Given the description of an element on the screen output the (x, y) to click on. 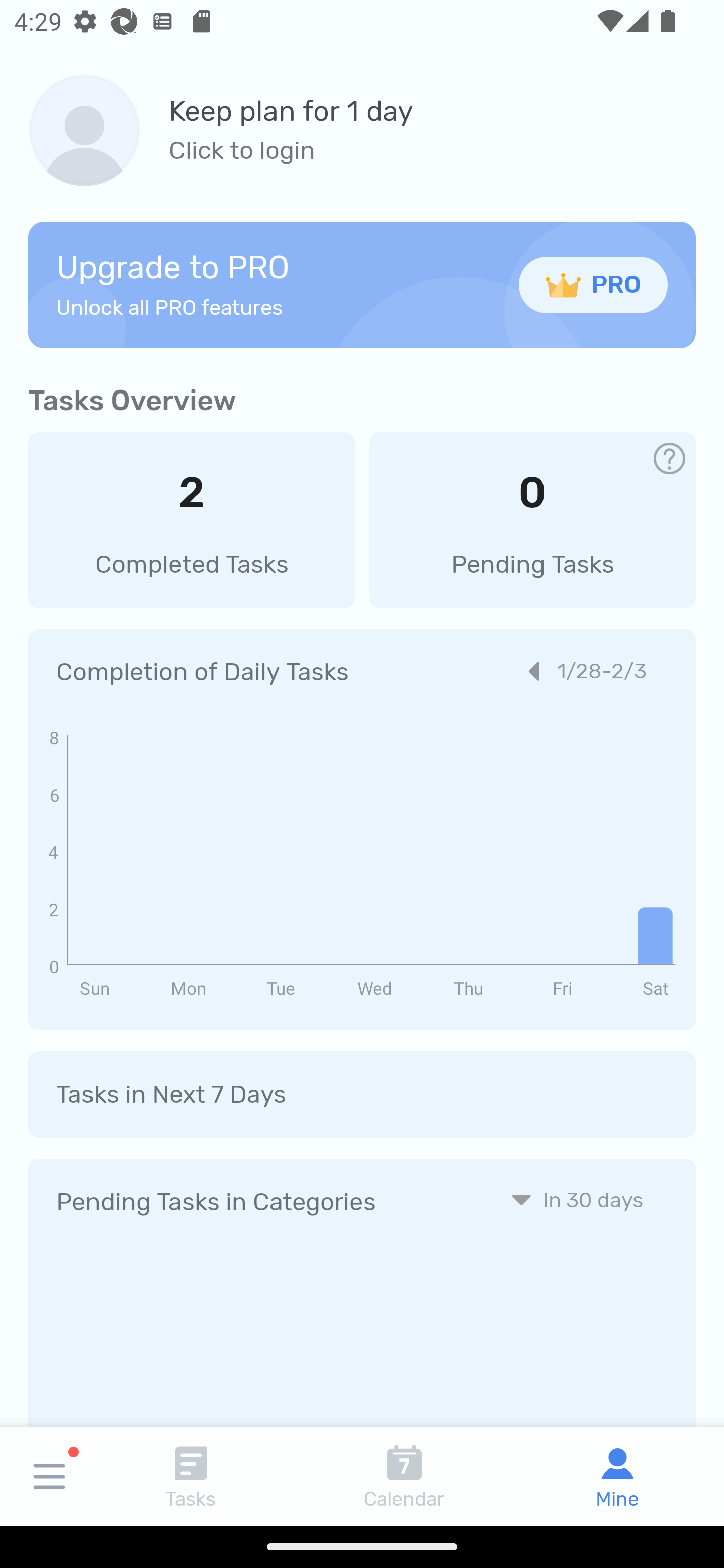
Click to login (291, 151)
Upgrade to PRO Unlock all PRO features PRO (361, 284)
In 30 days (577, 1199)
Tasks (190, 1475)
Calendar (404, 1475)
Mine (617, 1475)
